Given the description of an element on the screen output the (x, y) to click on. 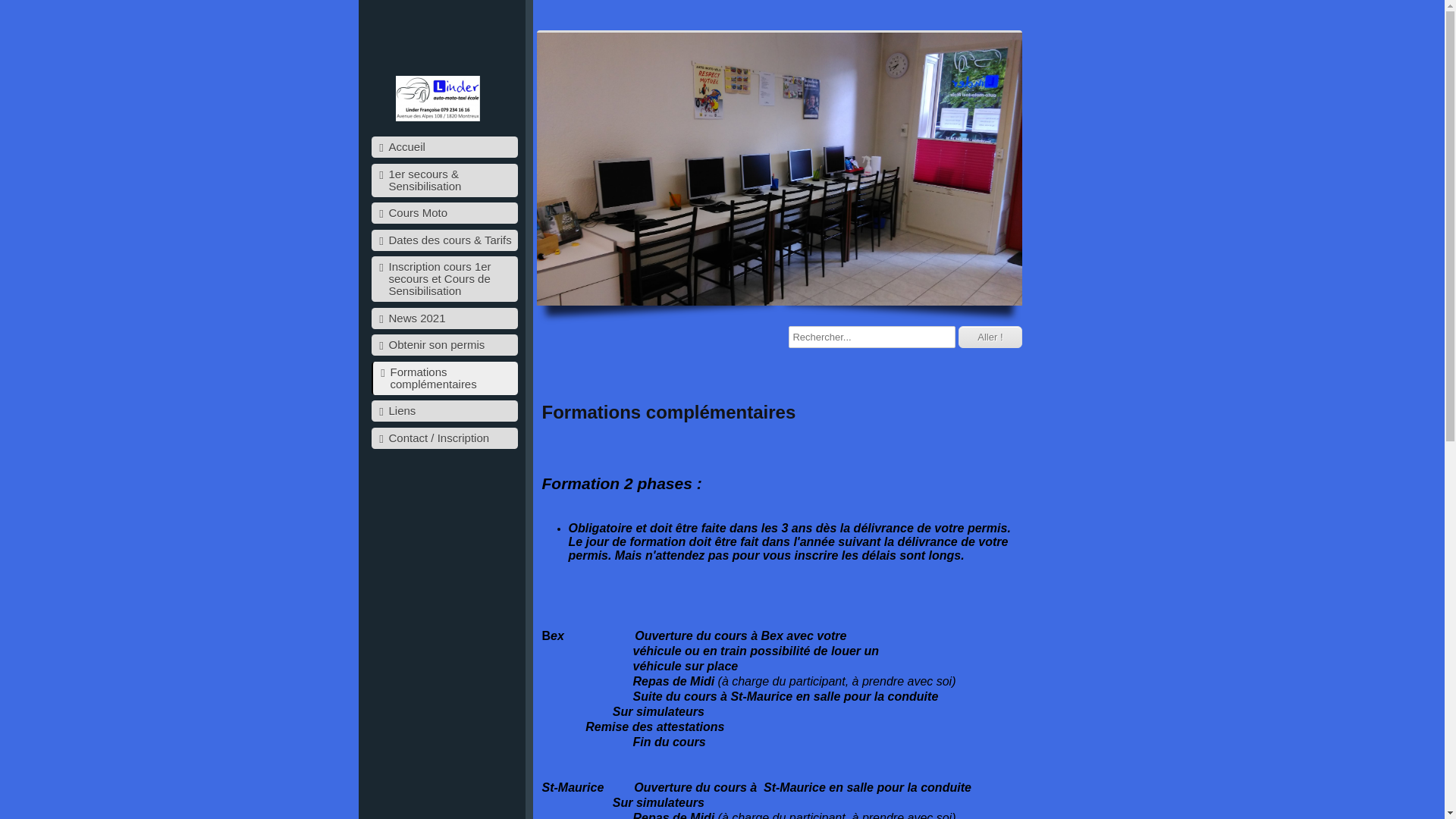
Obtenir son permis Element type: text (444, 344)
Dates des cours & Tarifs Element type: text (444, 239)
Contact / Inscription Element type: text (444, 437)
News 2021 Element type: text (444, 318)
Cours Moto Element type: text (444, 212)
Liens Element type: text (444, 410)
Accueil Element type: text (444, 146)
Inscription cours 1er secours et Cours de Sensibilisation Element type: text (444, 278)
1er secours & Sensibilisation Element type: text (444, 180)
